Given the description of an element on the screen output the (x, y) to click on. 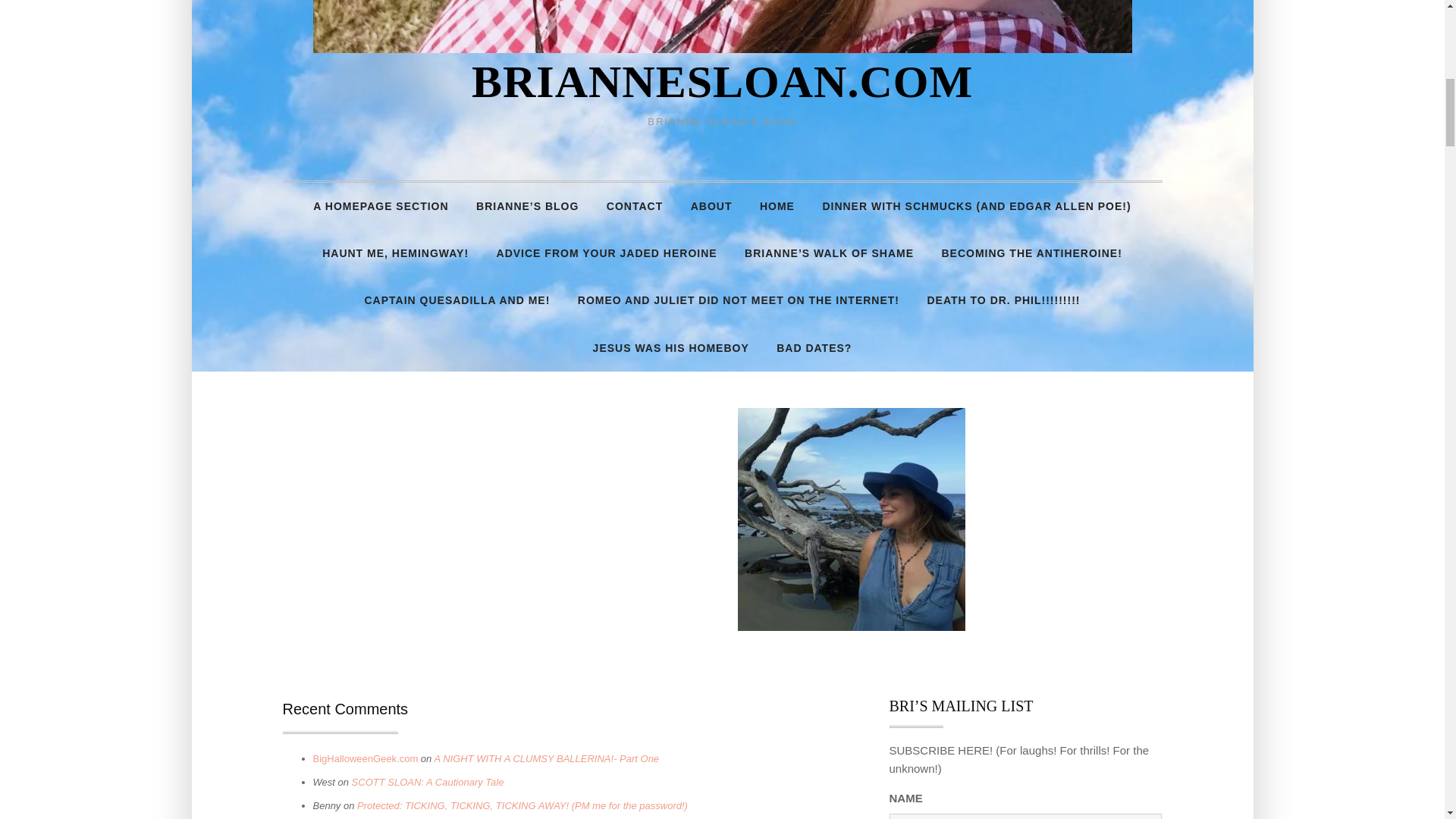
ROMEO AND JULIET DID NOT MEET ON THE INTERNET! (738, 299)
SCOTT SLOAN: A Cautionary Tale (427, 781)
BRIANNESLOAN.COM (721, 81)
ADVICE FROM YOUR JADED HEROINE (606, 253)
CONTACT (634, 206)
DEATH TO DR. PHIL!!!!!!!!! (1003, 299)
BAD DATES? (813, 347)
JESUS WAS HIS HOMEBOY (670, 347)
BECOMING THE ANTIHEROINE! (1031, 253)
A HOMEPAGE SECTION (380, 206)
A NIGHT WITH A CLUMSY BALLERINA!- Part One (546, 758)
CAPTAIN QUESADILLA AND ME! (457, 299)
BigHalloweenGeek.com (365, 758)
HAUNT ME, HEMINGWAY! (395, 253)
ABOUT (711, 206)
